Given the description of an element on the screen output the (x, y) to click on. 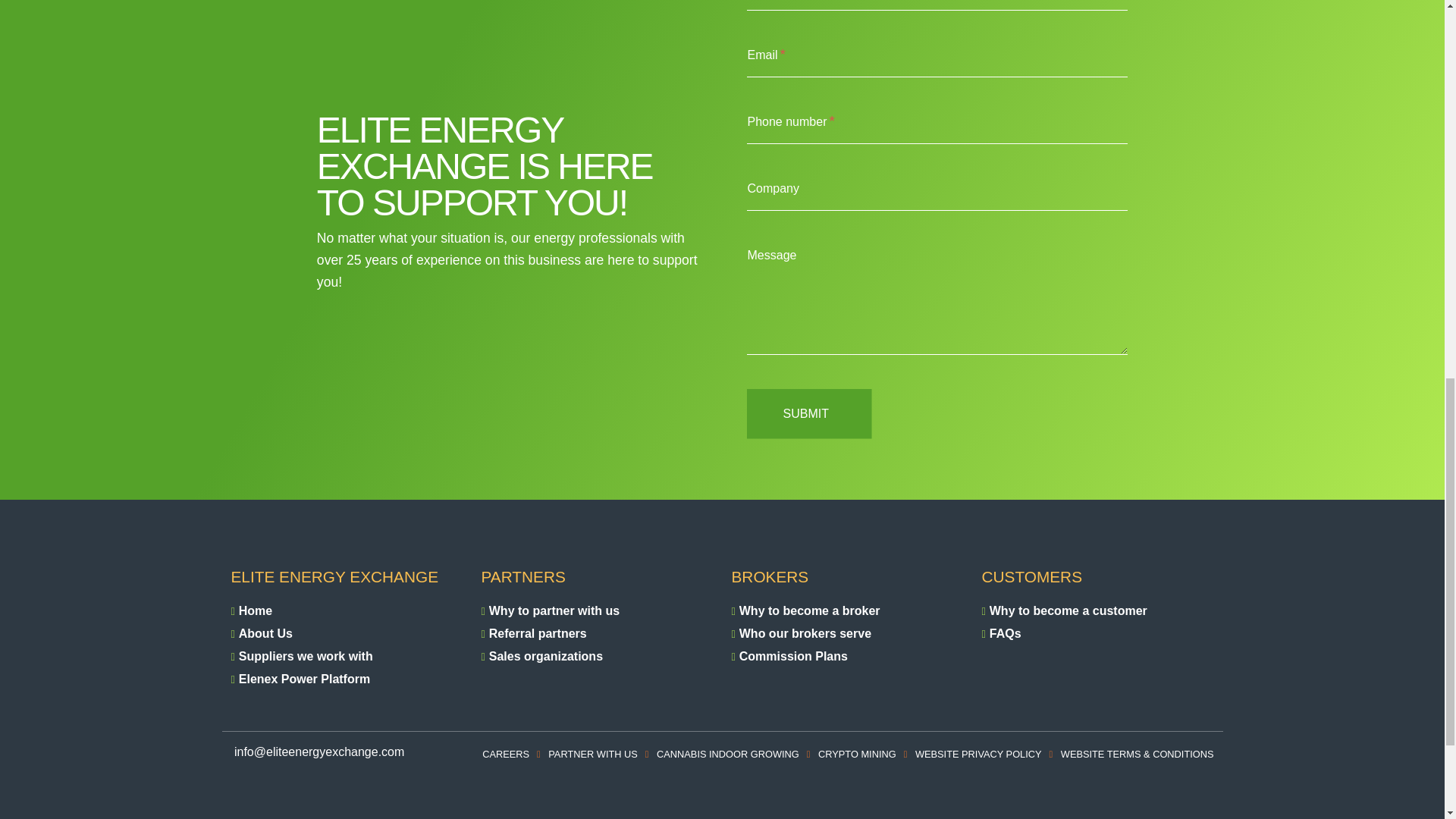
SUBMIT   (807, 413)
About Us (265, 632)
Home (255, 609)
